Given the description of an element on the screen output the (x, y) to click on. 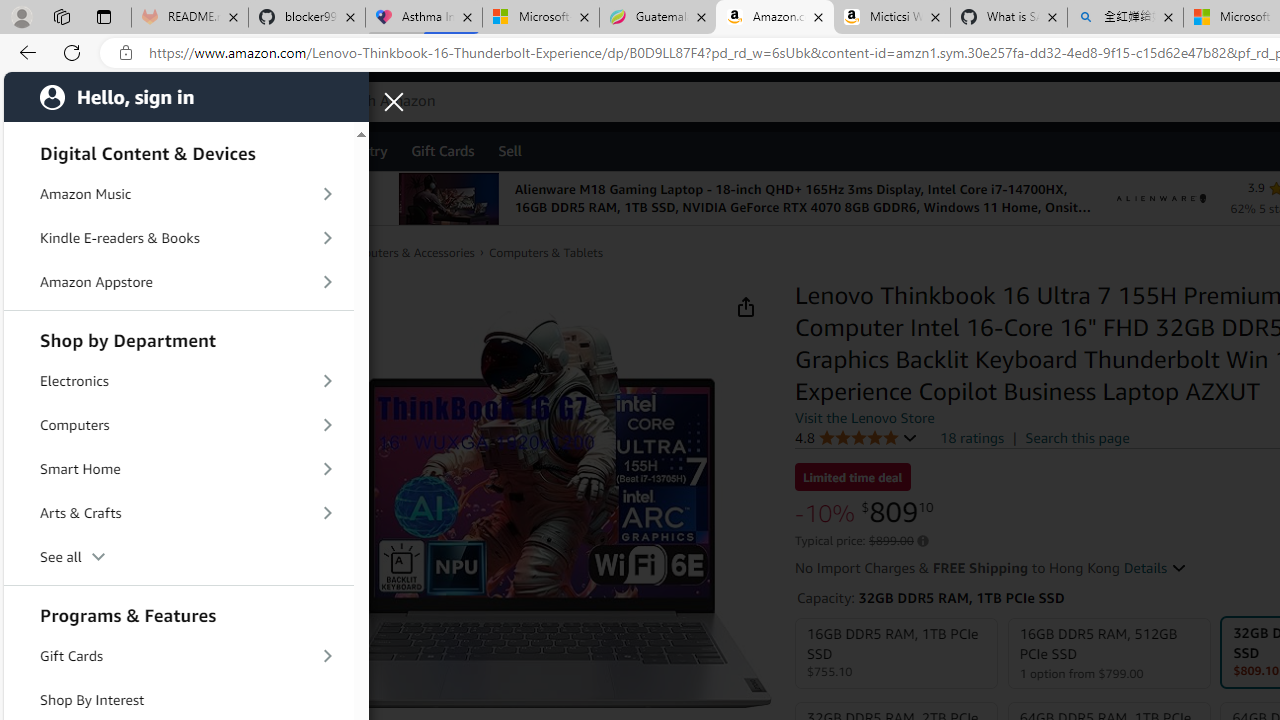
Open Menu (48, 151)
Deliver to Hong Kong (193, 101)
